Given the description of an element on the screen output the (x, y) to click on. 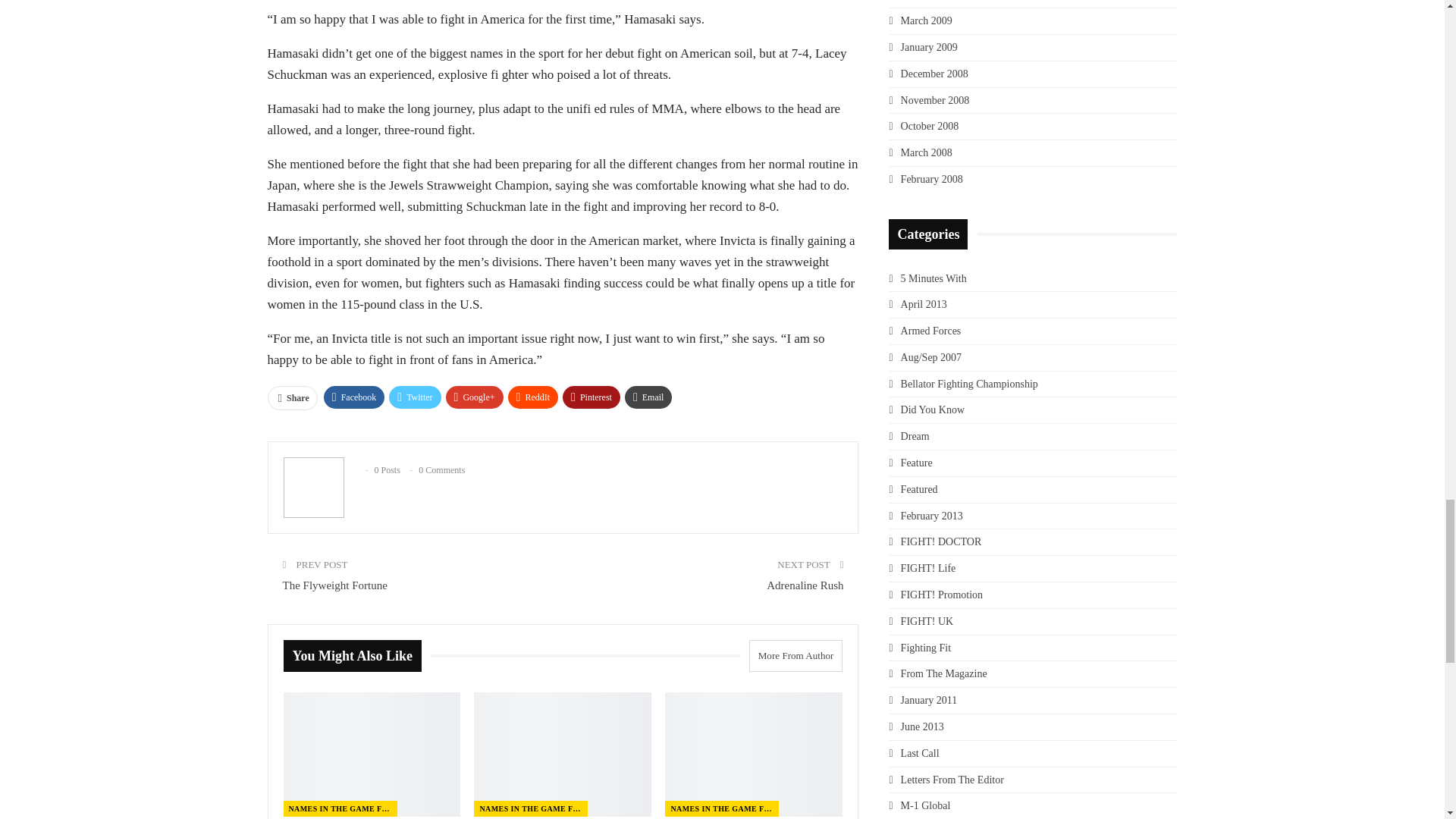
Pinterest (591, 396)
ReddIt (533, 396)
You Might Also Like (356, 656)
Twitter (414, 396)
Facebook (354, 396)
More From Author (791, 655)
The Flyweight Fortune (334, 585)
NAMES IN THE GAME FROM THE MAGAZINE (340, 808)
Nate Diaz: Built for Success (372, 754)
Adrenaline Rush (805, 585)
